Given the description of an element on the screen output the (x, y) to click on. 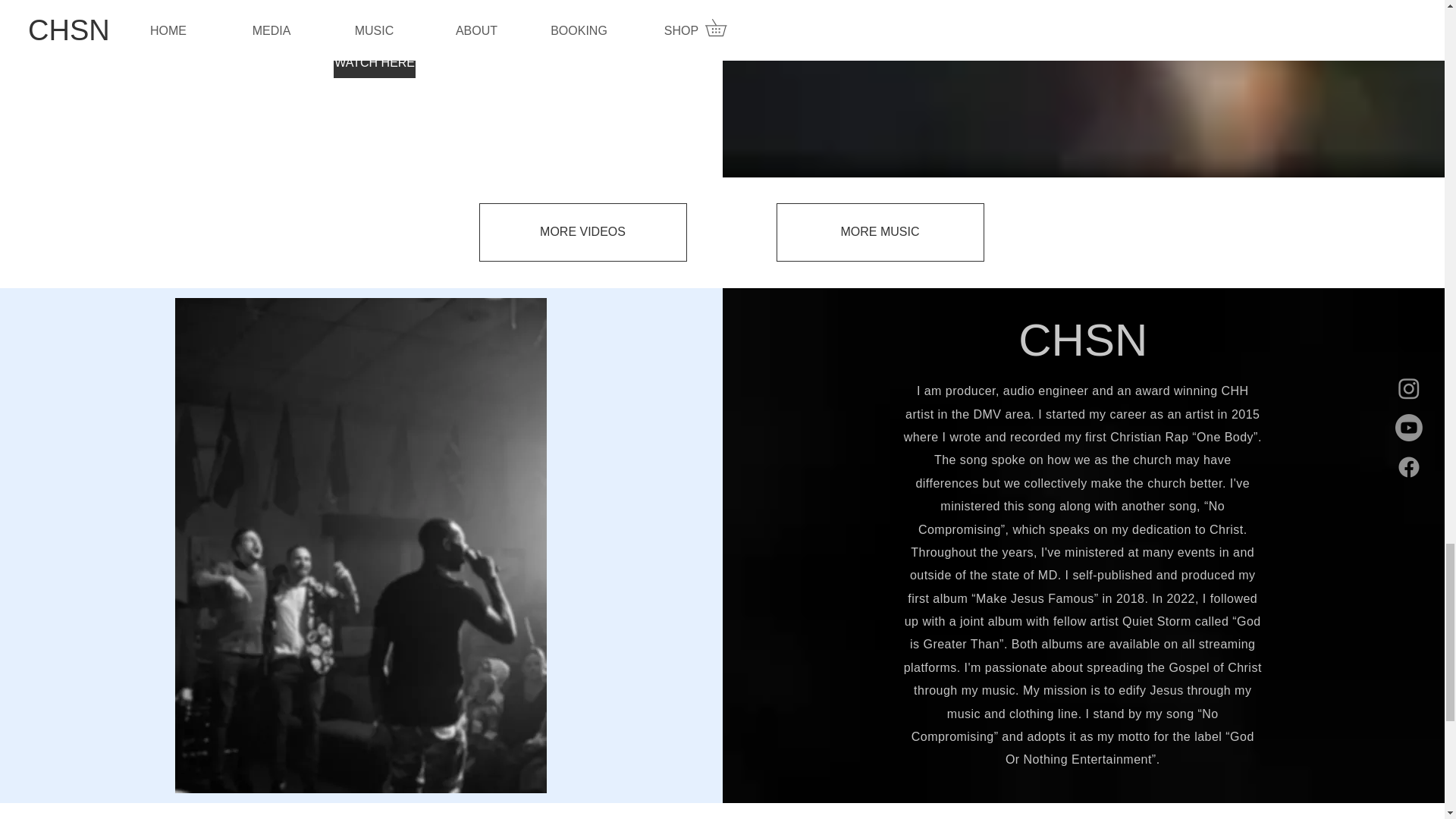
MORE MUSIC (880, 232)
MORE VIDEOS (583, 232)
WATCH HERE (373, 62)
